Given the description of an element on the screen output the (x, y) to click on. 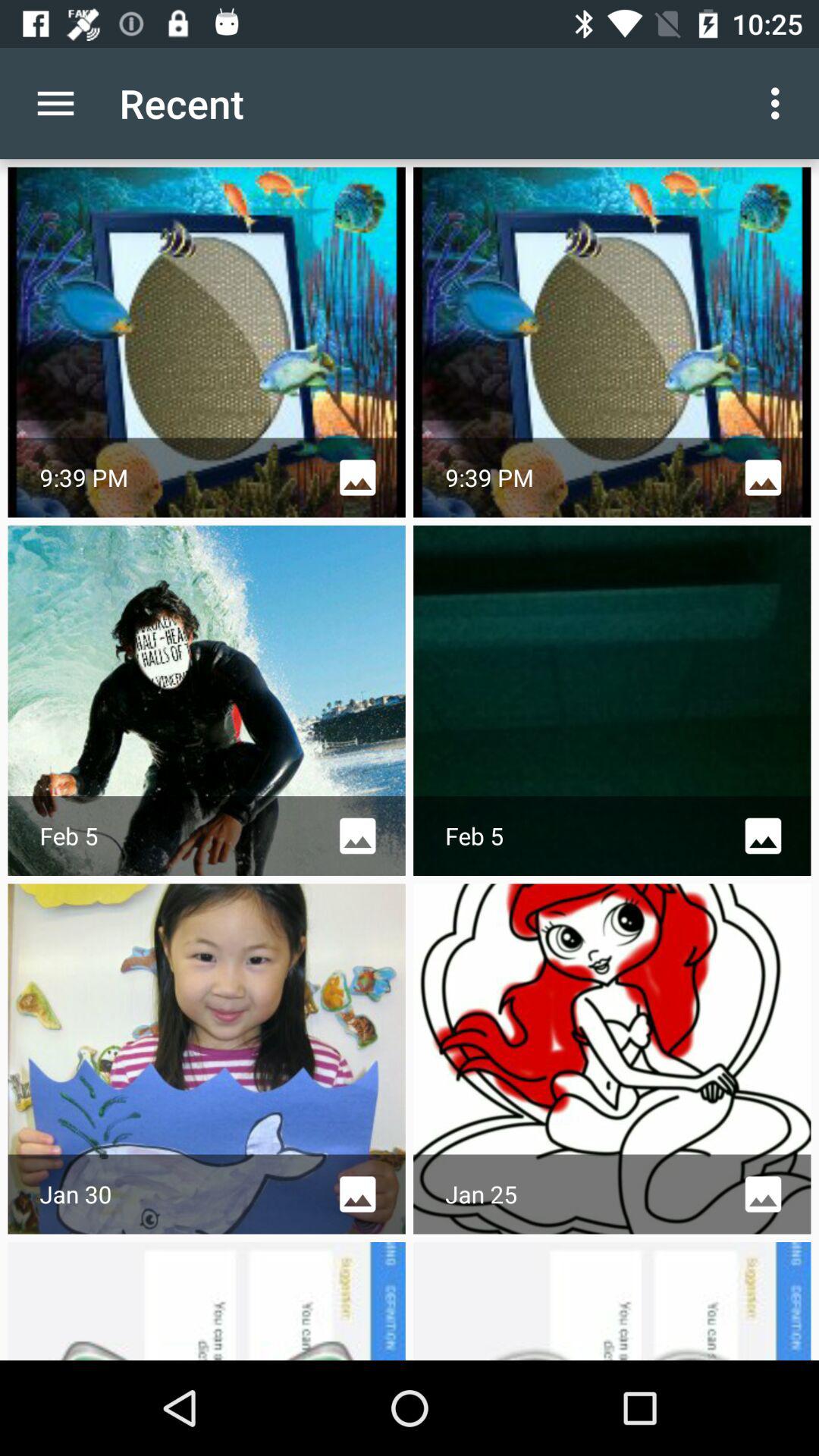
turn on app to the right of the recent item (779, 103)
